Given the description of an element on the screen output the (x, y) to click on. 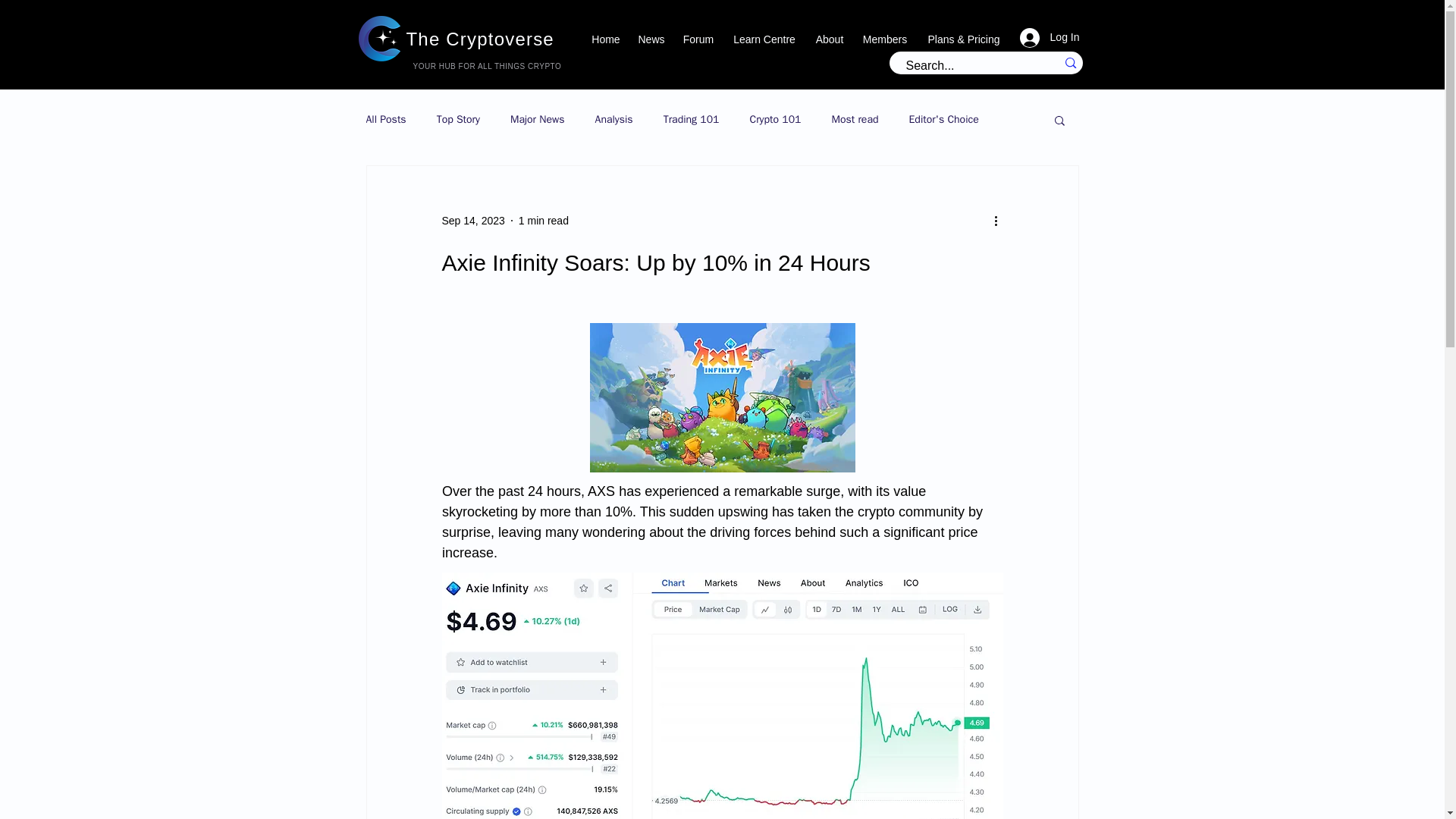
YOUR HUB FOR ALL THINGS CRYPTO (486, 66)
Editor's Choice (943, 119)
Most read (854, 119)
Log In (1049, 37)
About (829, 38)
The Cryptoverse (480, 38)
Logo 1.png (380, 38)
Top Story (458, 119)
Major News (537, 119)
All Posts (385, 119)
